Given the description of an element on the screen output the (x, y) to click on. 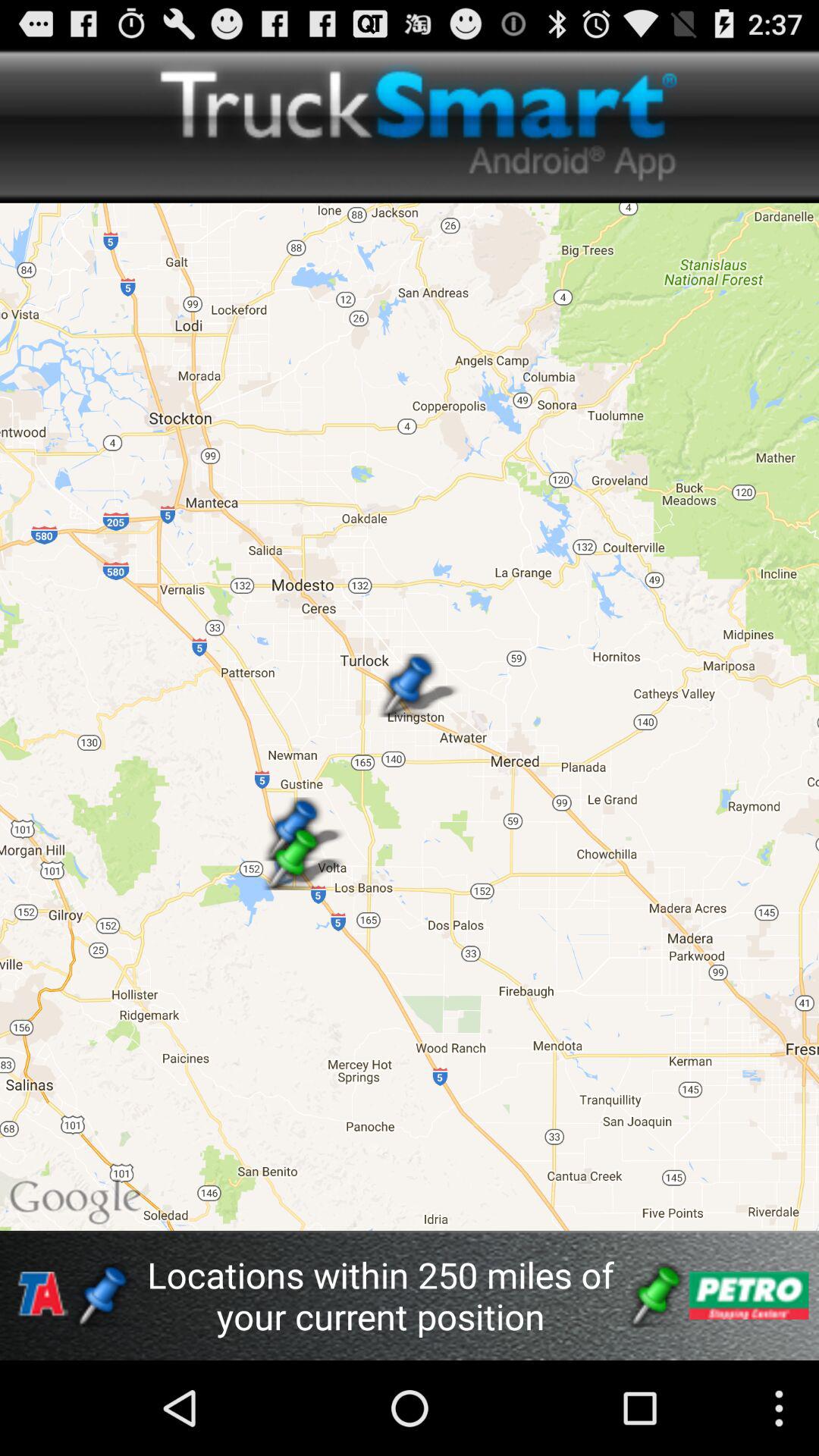
launch icon above the locations within 250 app (409, 716)
